Given the description of an element on the screen output the (x, y) to click on. 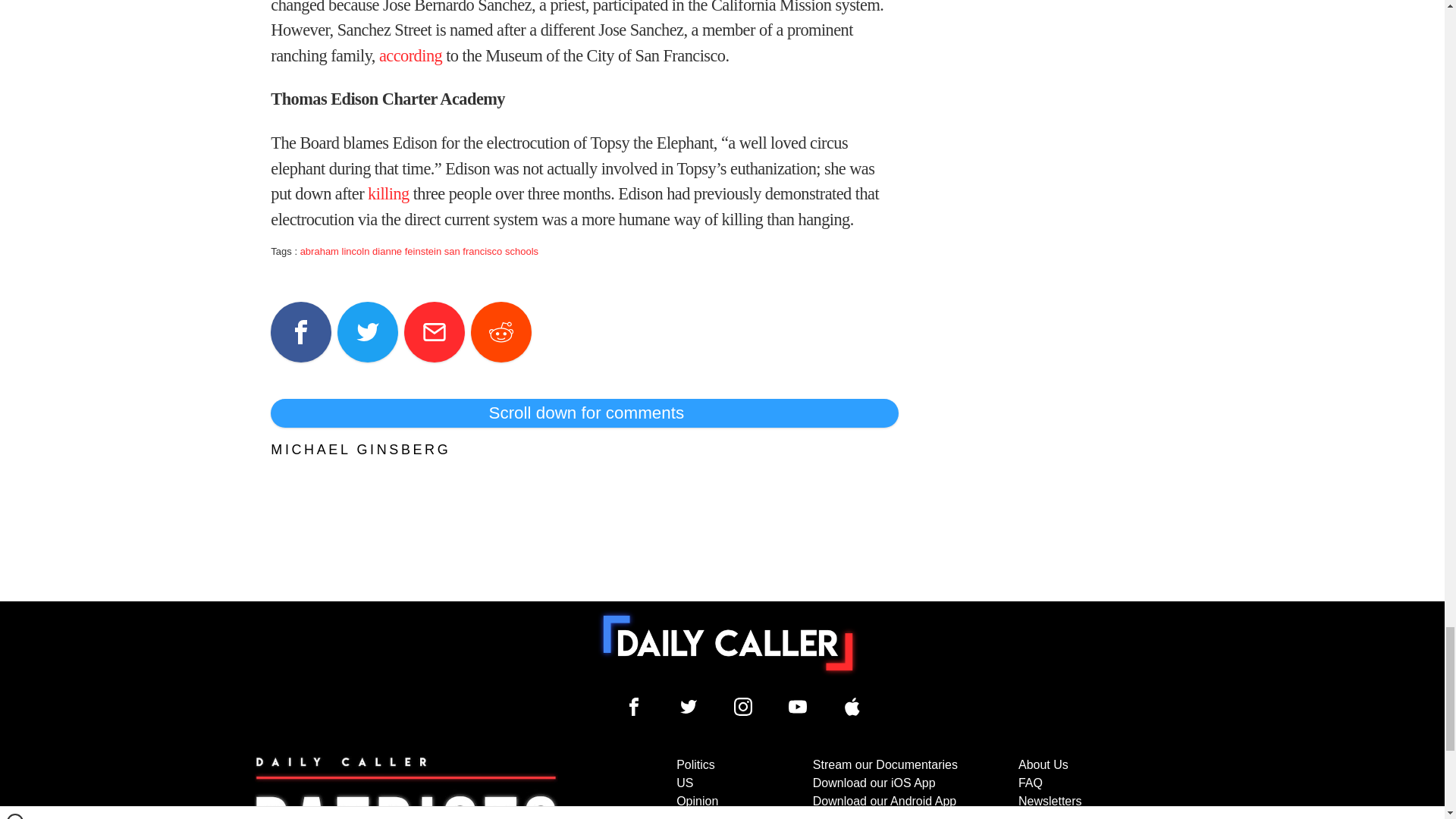
Subscribe to The Daily Caller (405, 787)
Daily Caller YouTube (797, 706)
Scroll down for comments (584, 412)
Daily Caller Facebook (633, 706)
Daily Caller YouTube (852, 706)
Daily Caller Instagram (742, 706)
Daily Caller Twitter (688, 706)
To home page (727, 642)
